Given the description of an element on the screen output the (x, y) to click on. 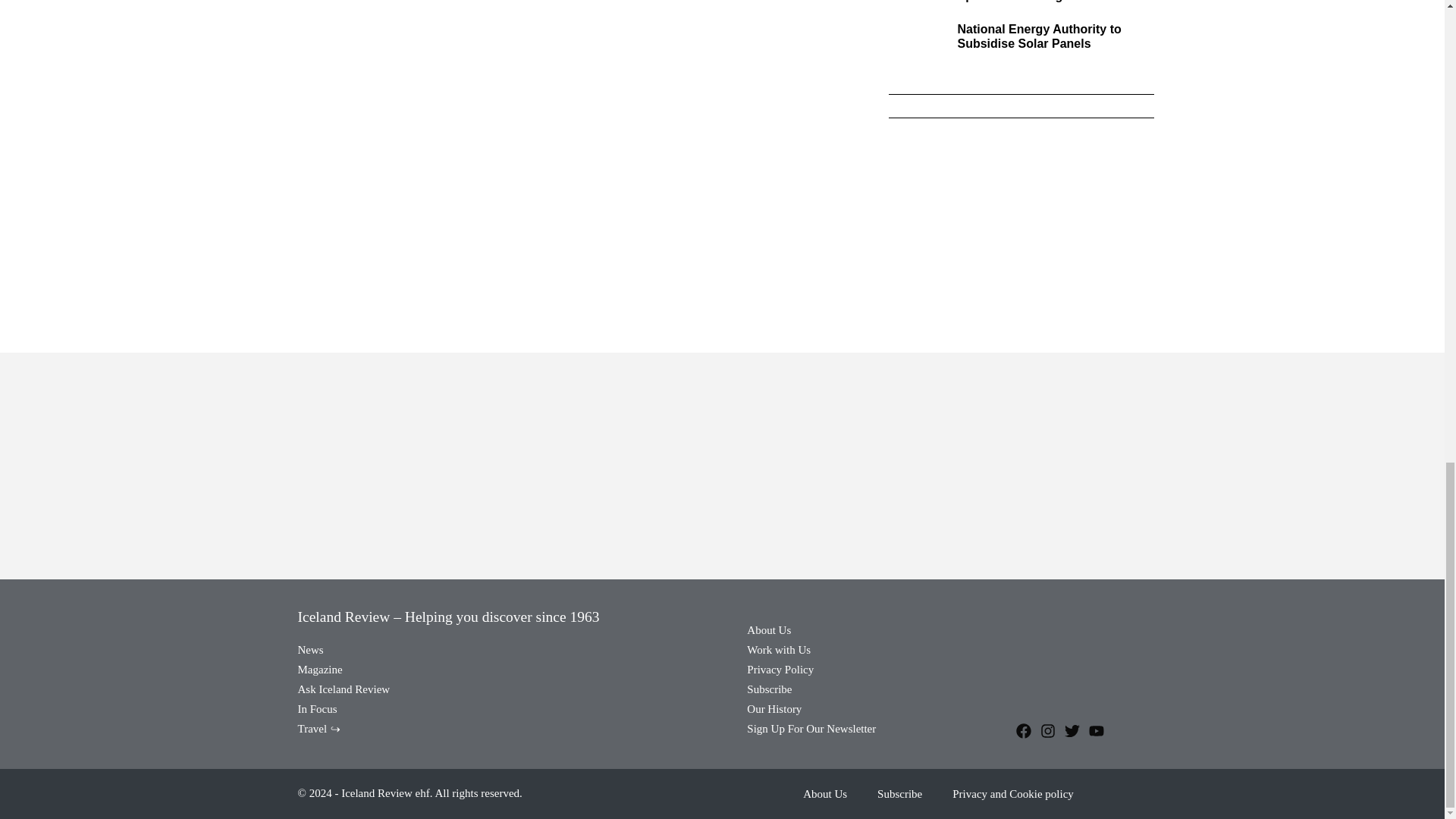
National Energy Authority to Subsidise Solar Panels (1038, 35)
